Given the description of an element on the screen output the (x, y) to click on. 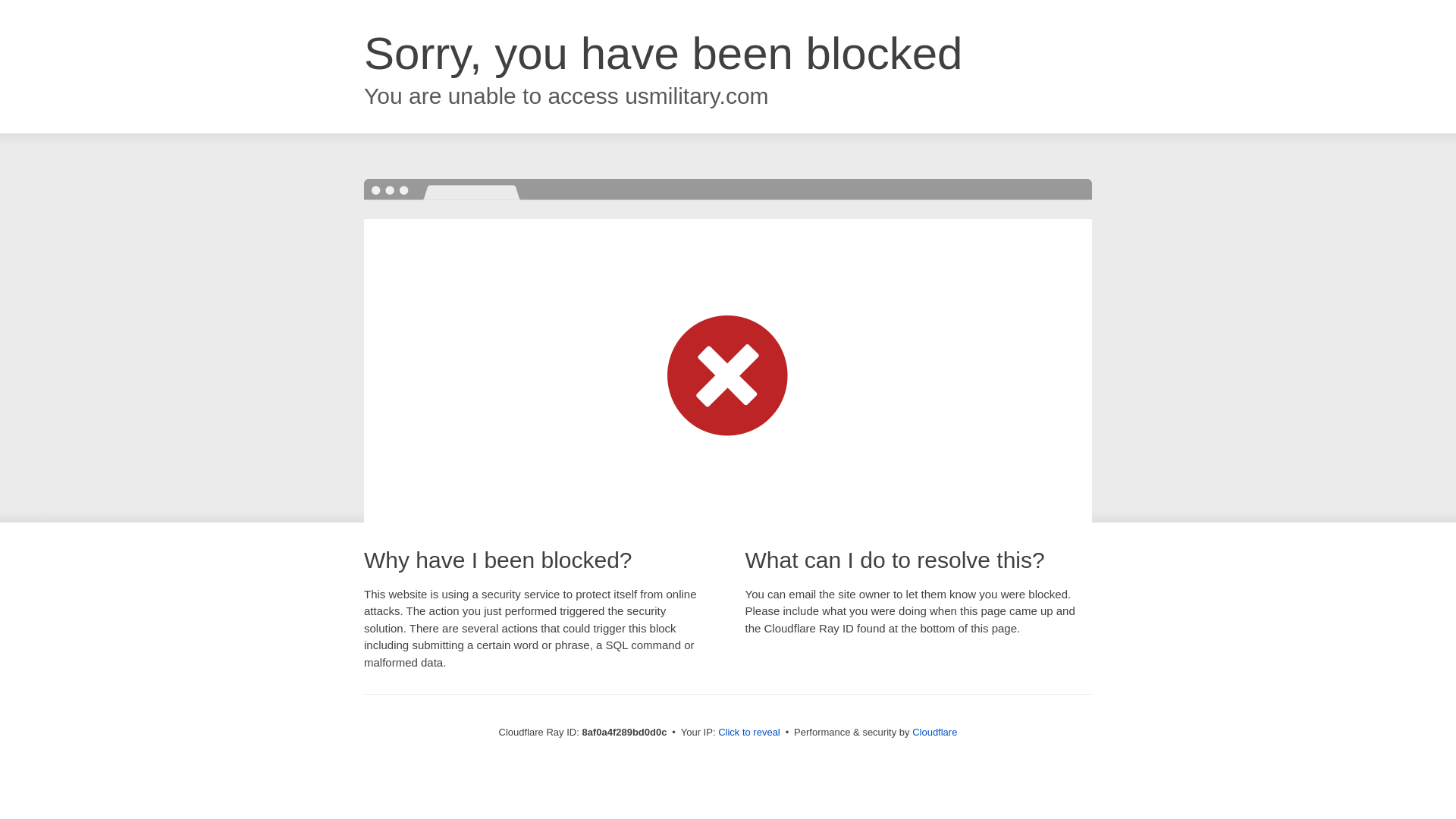
Click to reveal (748, 732)
Cloudflare (934, 731)
